Given the description of an element on the screen output the (x, y) to click on. 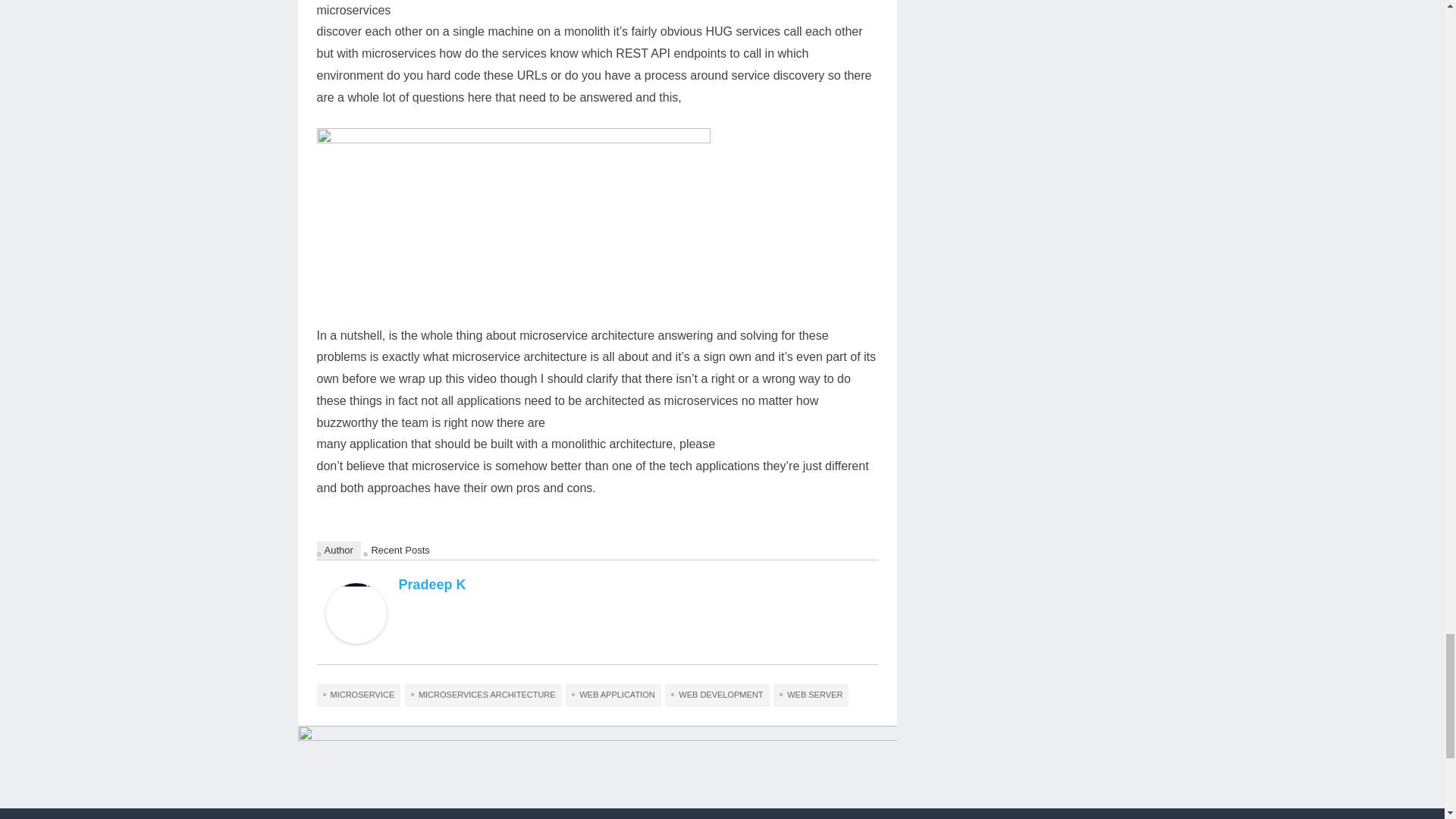
WEB DEVELOPMENT (716, 694)
MICROSERVICES ARCHITECTURE (483, 694)
WEB APPLICATION (613, 694)
Recent Posts (399, 550)
Pradeep K (356, 639)
MICROSERVICE (359, 694)
Pradeep K (431, 584)
WEB SERVER (810, 694)
Author (339, 550)
